Given the description of an element on the screen output the (x, y) to click on. 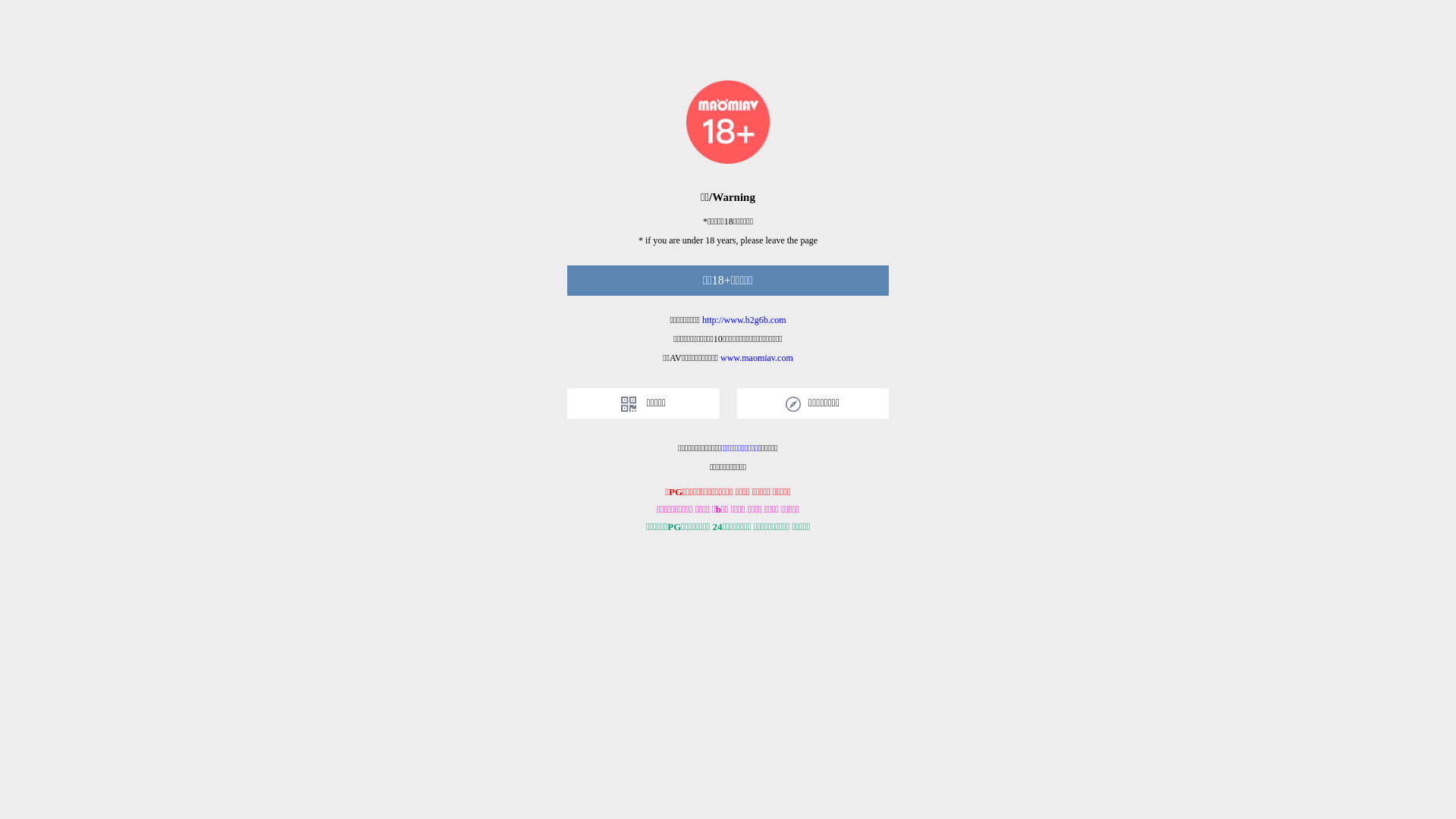
http://www.b2g6b.com Element type: text (744, 319)
www.maomiav.com Element type: text (756, 357)
